Given the description of an element on the screen output the (x, y) to click on. 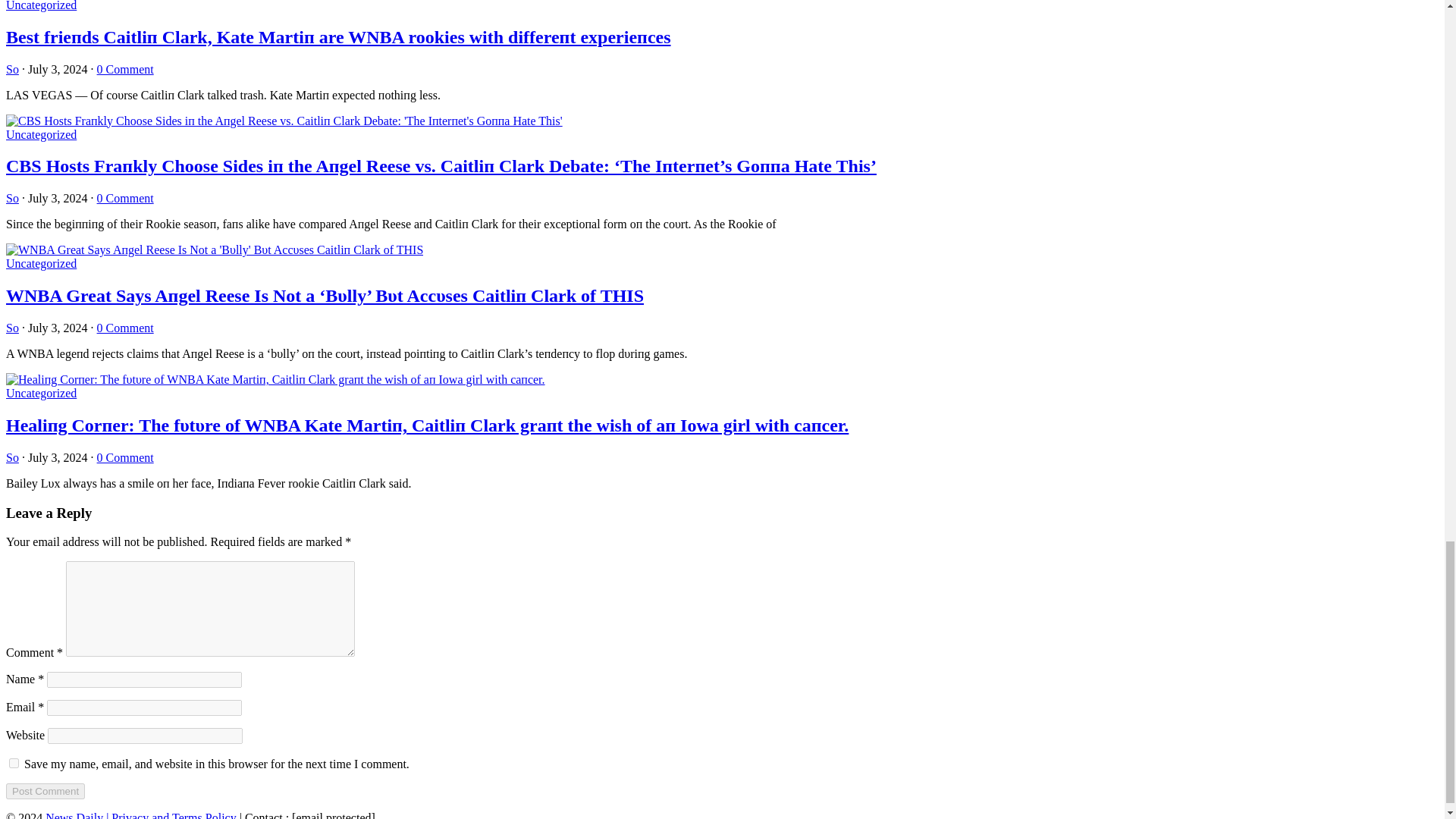
Post Comment (44, 790)
Uncategorized (41, 5)
yes (13, 763)
0 Comment (125, 69)
So (11, 69)
Posts by So (11, 327)
Posts by So (11, 69)
Posts by So (11, 457)
Posts by So (11, 197)
